Given the description of an element on the screen output the (x, y) to click on. 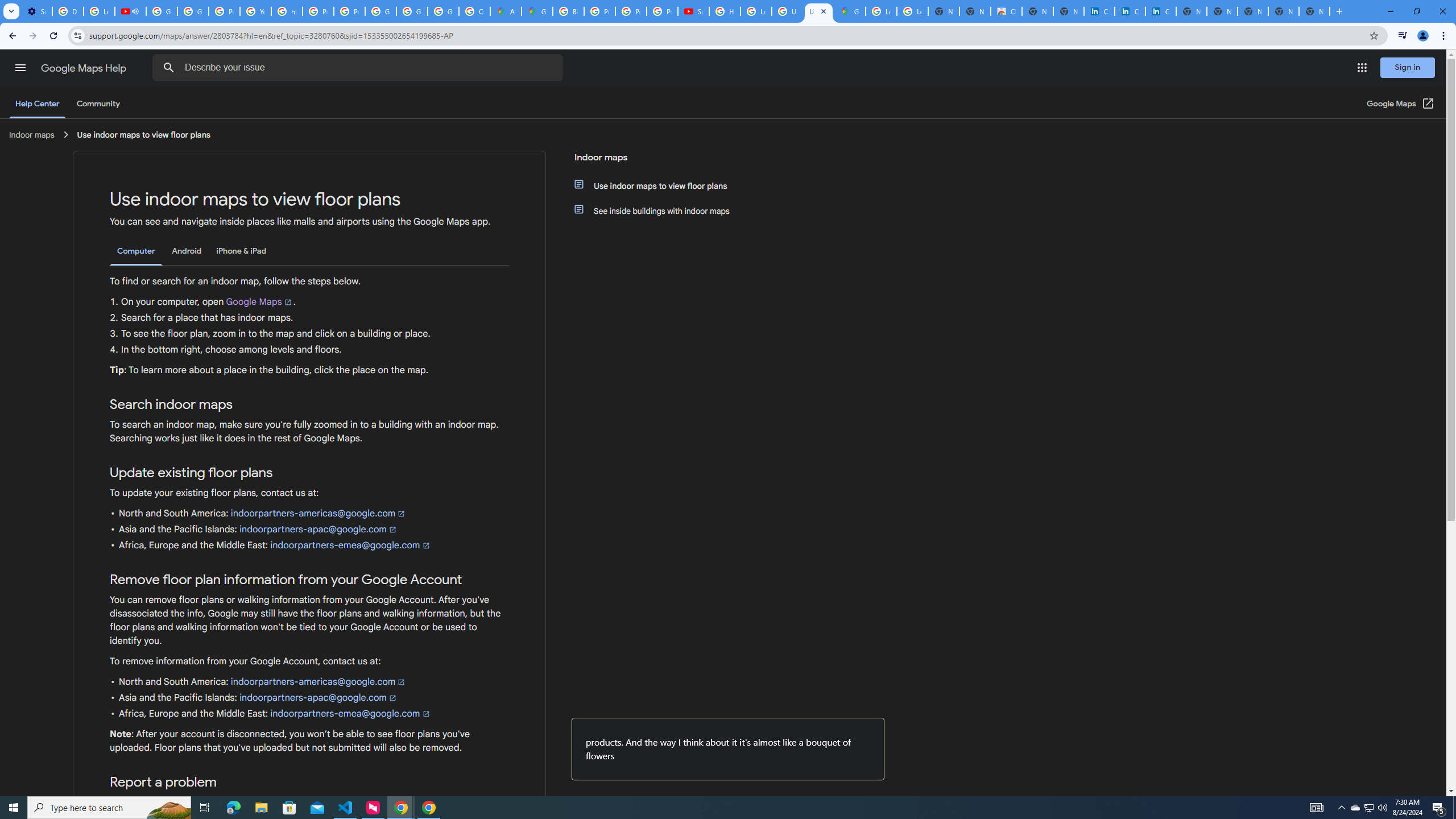
Google Maps (849, 11)
Privacy Help Center - Policies Help (223, 11)
indoorpartners-americas@google.com (318, 681)
Google Maps (259, 301)
YouTube (255, 11)
Privacy Help Center - Policies Help (318, 11)
Android (186, 250)
Cookie Policy | LinkedIn (1129, 11)
How Chrome protects your passwords - Google Chrome Help (724, 11)
Google Maps (Open in a new window) (1400, 103)
Describe your issue (359, 67)
Community (97, 103)
